Given the description of an element on the screen output the (x, y) to click on. 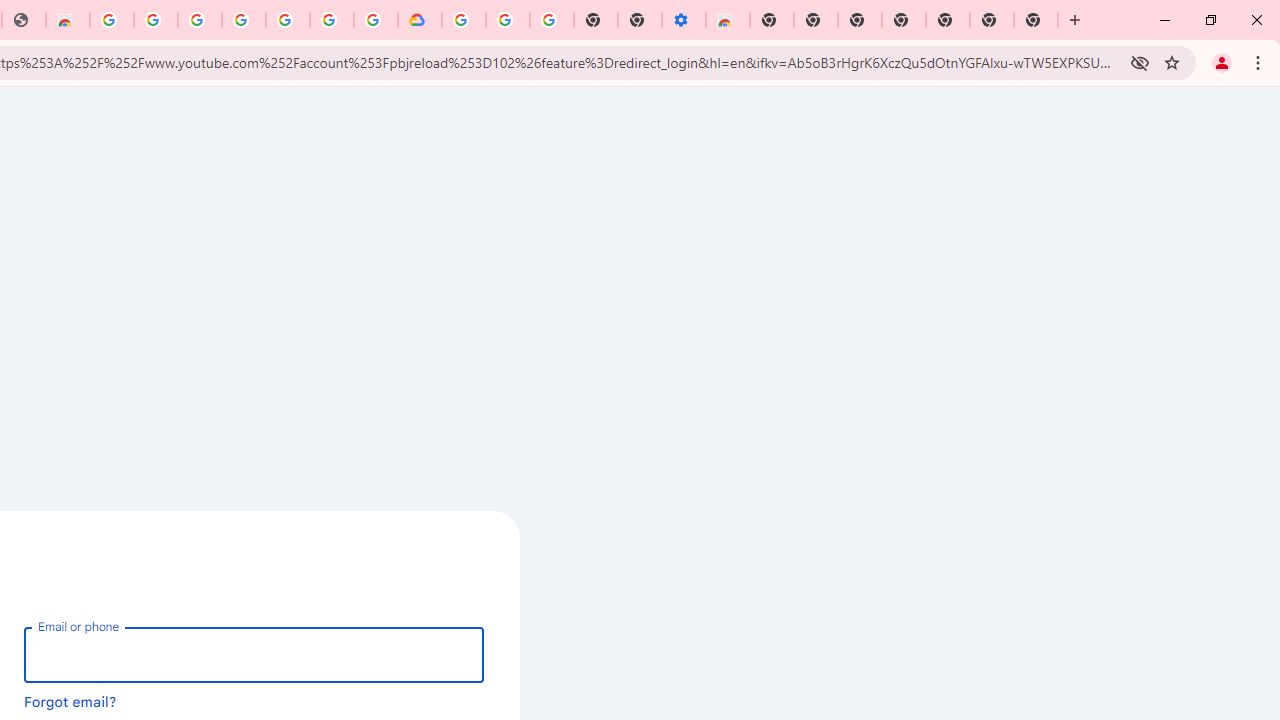
Turn cookies on or off - Computer - Google Account Help (551, 20)
Email or phone (253, 654)
Settings - Accessibility (683, 20)
New Tab (1035, 20)
Google Account Help (507, 20)
New Tab (771, 20)
Ad Settings (155, 20)
Sign in - Google Accounts (331, 20)
Chrome Web Store - Accessibility extensions (728, 20)
